Given the description of an element on the screen output the (x, y) to click on. 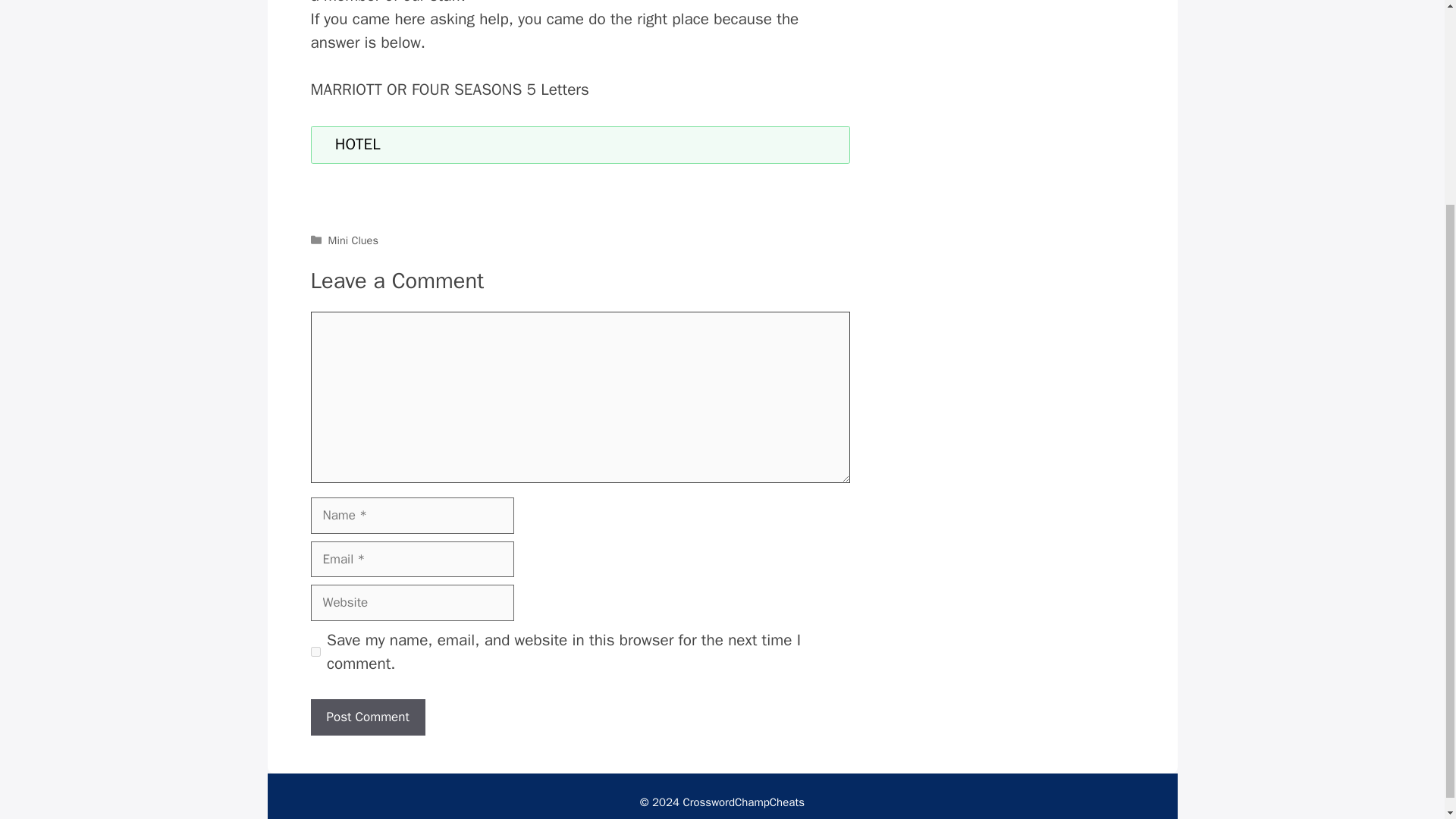
Mini Clues (353, 240)
Post Comment (368, 717)
yes (315, 651)
Post Comment (368, 717)
